Given the description of an element on the screen output the (x, y) to click on. 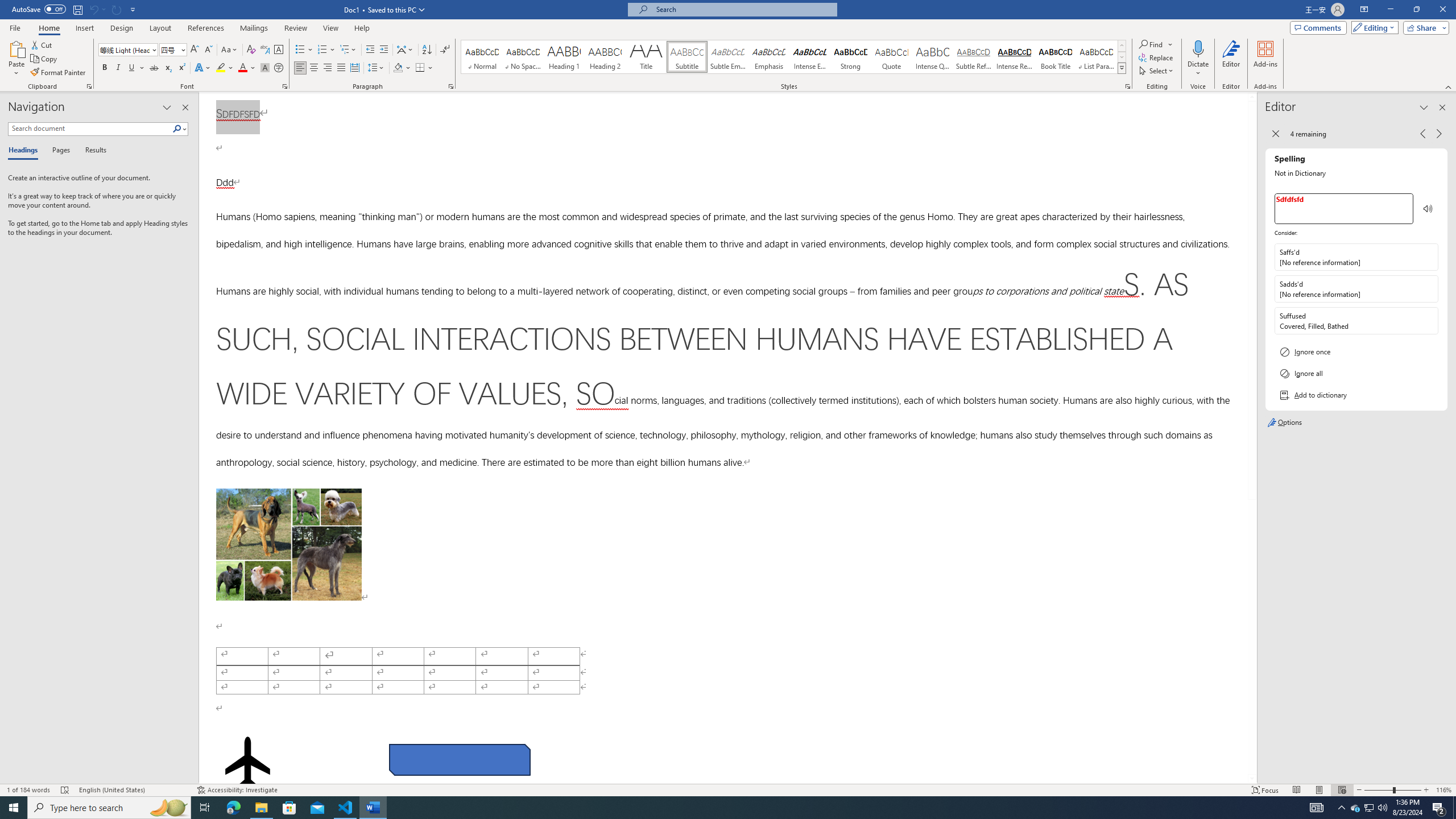
Numbering (322, 49)
Customize Quick Access Toolbar (133, 9)
Insert (83, 28)
Cut (42, 44)
Increase Indent (383, 49)
Font Size (172, 49)
Class: NetUIScrollBar (1251, 437)
Next Issue, 4 remaining (1439, 133)
Previous Issue, 4 remaining (1422, 133)
Enclose Characters... (278, 67)
Underline (136, 67)
Borders (419, 67)
Editor (1231, 58)
Microsoft search (742, 9)
